Given the description of an element on the screen output the (x, y) to click on. 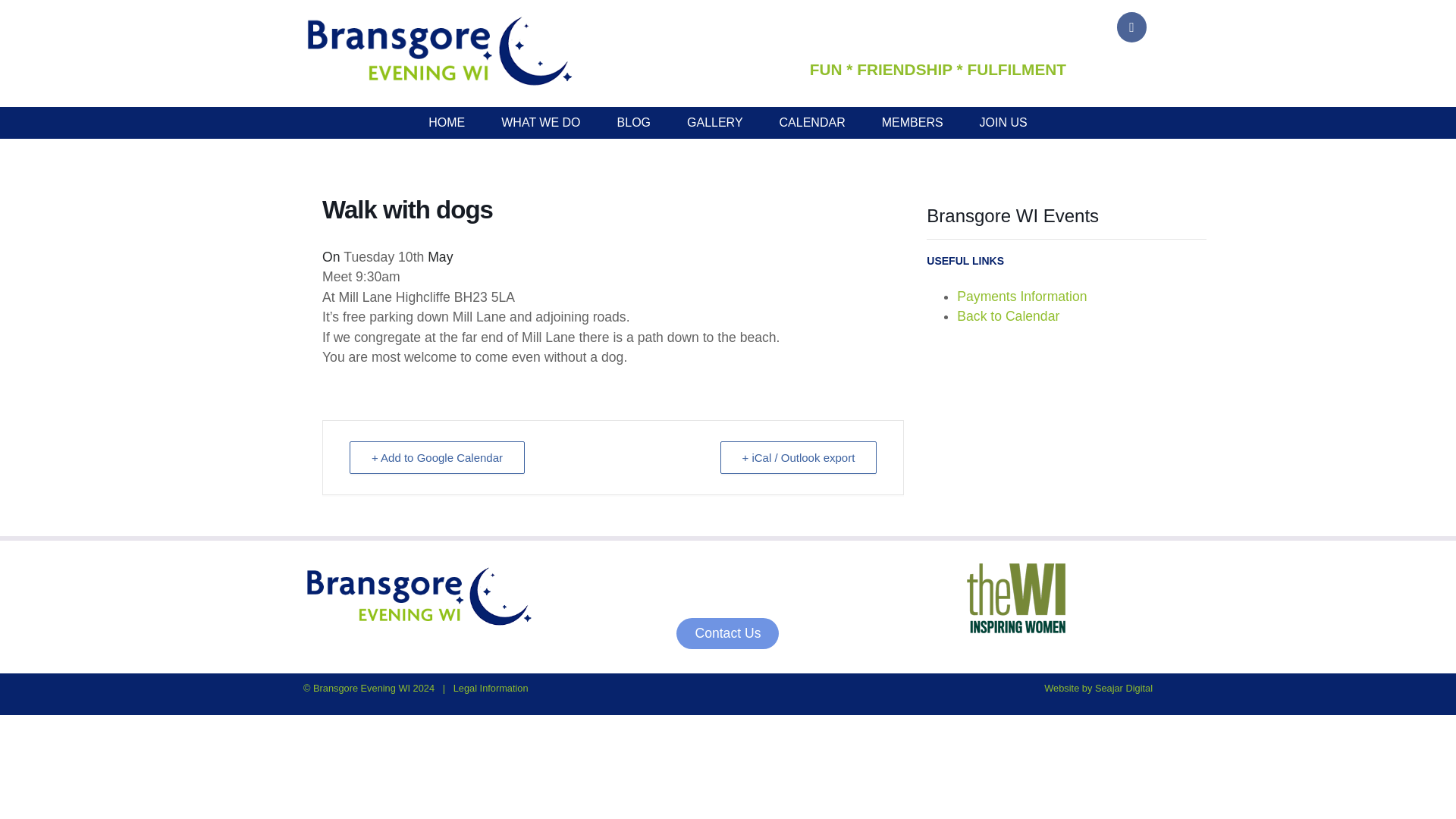
CALENDAR (812, 122)
JOIN US (1002, 122)
GALLERY (714, 122)
WHAT WE DO (540, 122)
BLOG (633, 122)
MEMBERS (911, 122)
HOME (446, 122)
